Given the description of an element on the screen output the (x, y) to click on. 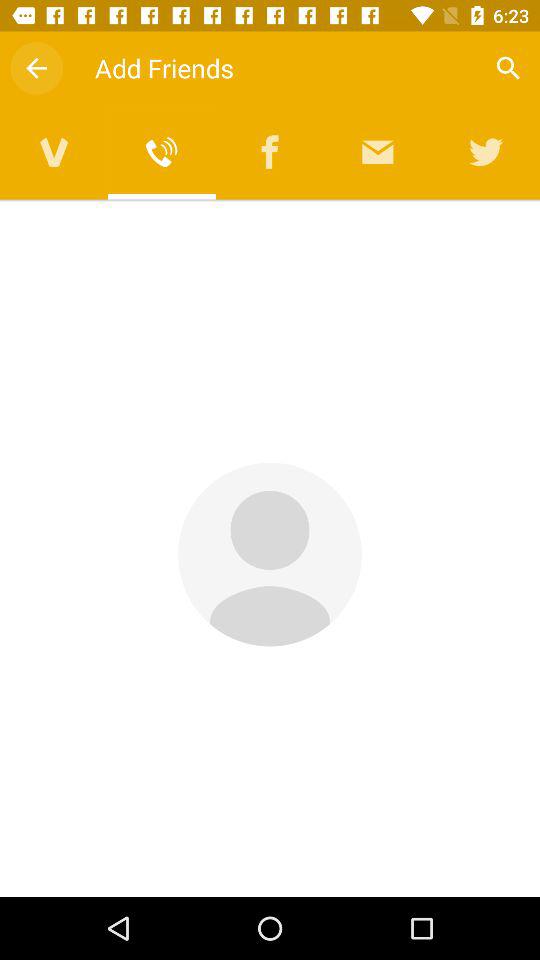
find friends who are on oovoo (54, 152)
